Given the description of an element on the screen output the (x, y) to click on. 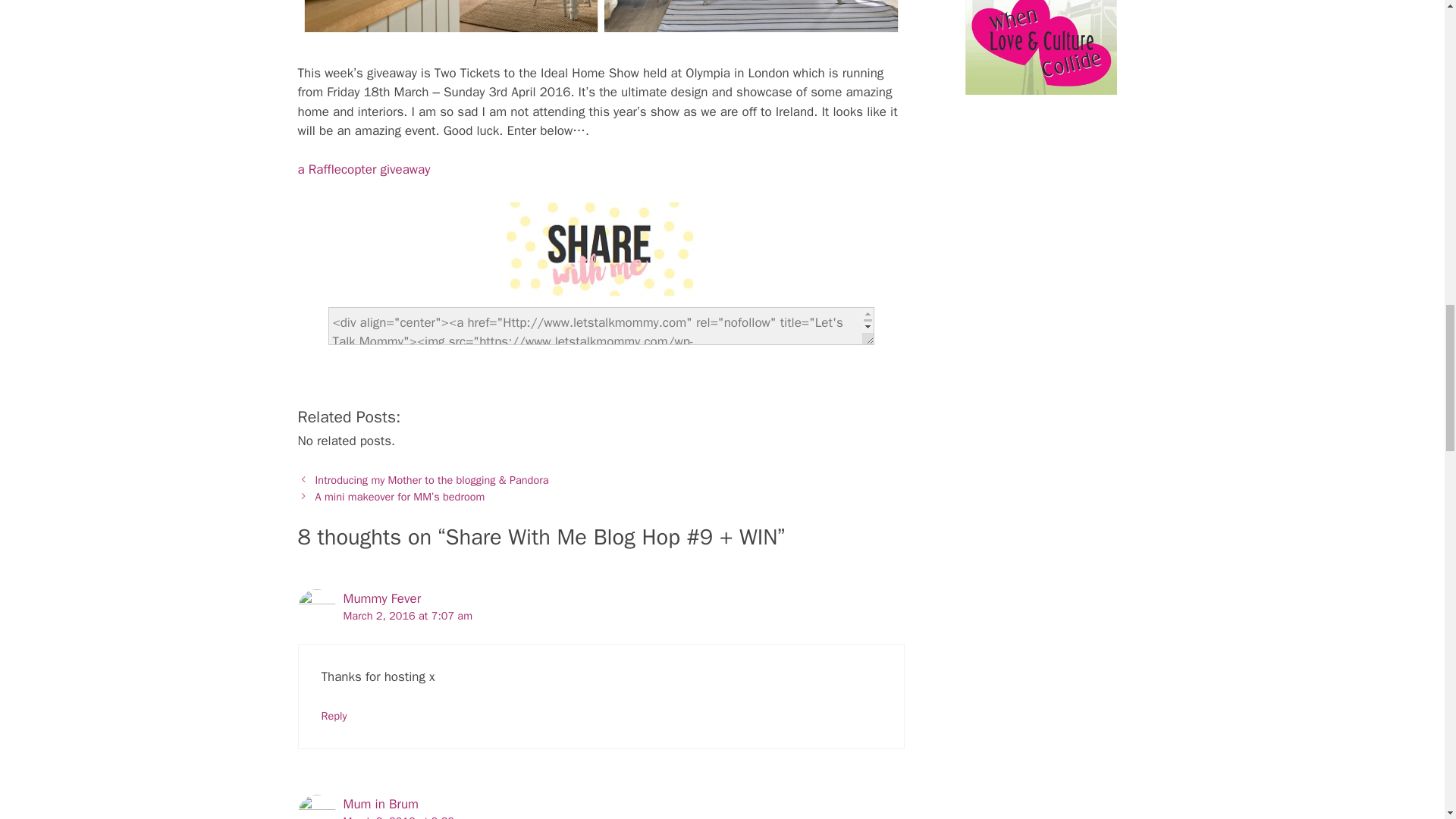
Mummy Fever (381, 598)
March 2, 2016 at 9:39 am (406, 816)
Let's Talk Mommy (600, 249)
Mum in Brum (380, 804)
March 2, 2016 at 7:07 am (406, 615)
Reply (334, 715)
a Rafflecopter giveaway (363, 169)
